Given the description of an element on the screen output the (x, y) to click on. 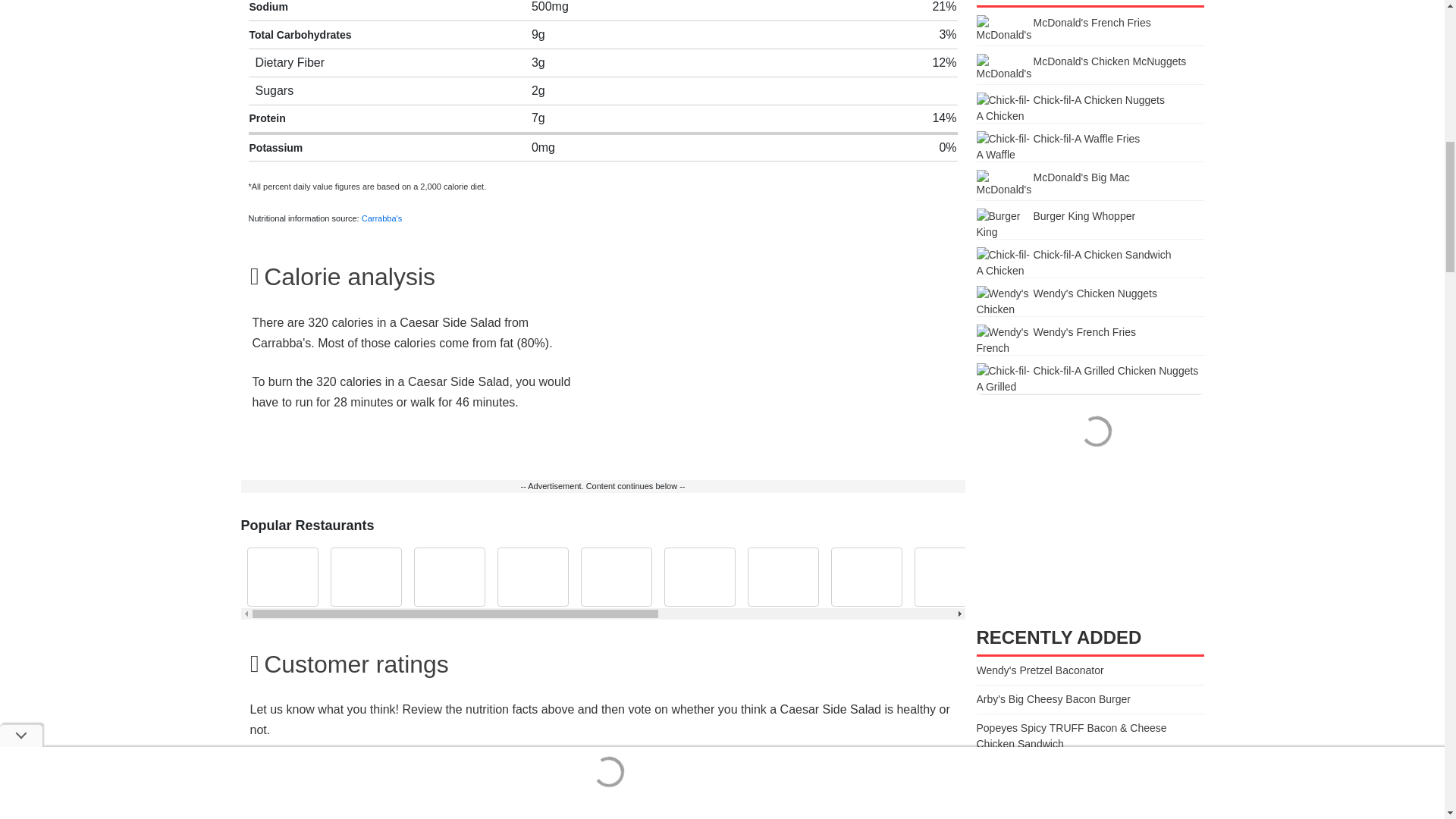
Dietary Fiber (289, 62)
Sugars (274, 90)
Sodium (267, 6)
Total Carbohydrates (299, 33)
